Given the description of an element on the screen output the (x, y) to click on. 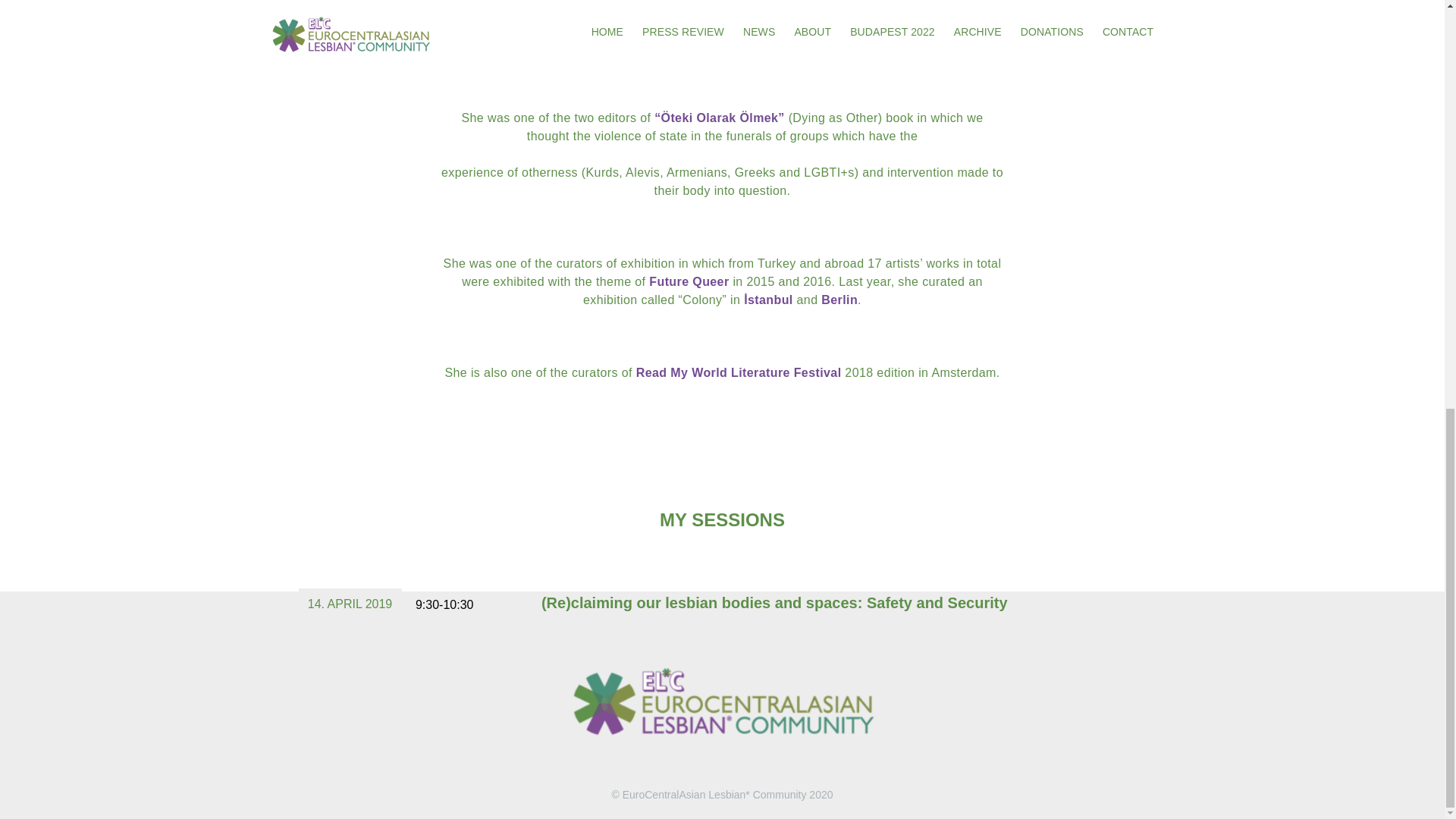
Read My World Literature Festival (738, 372)
Future Queer (689, 281)
Berlin (839, 299)
